Given the description of an element on the screen output the (x, y) to click on. 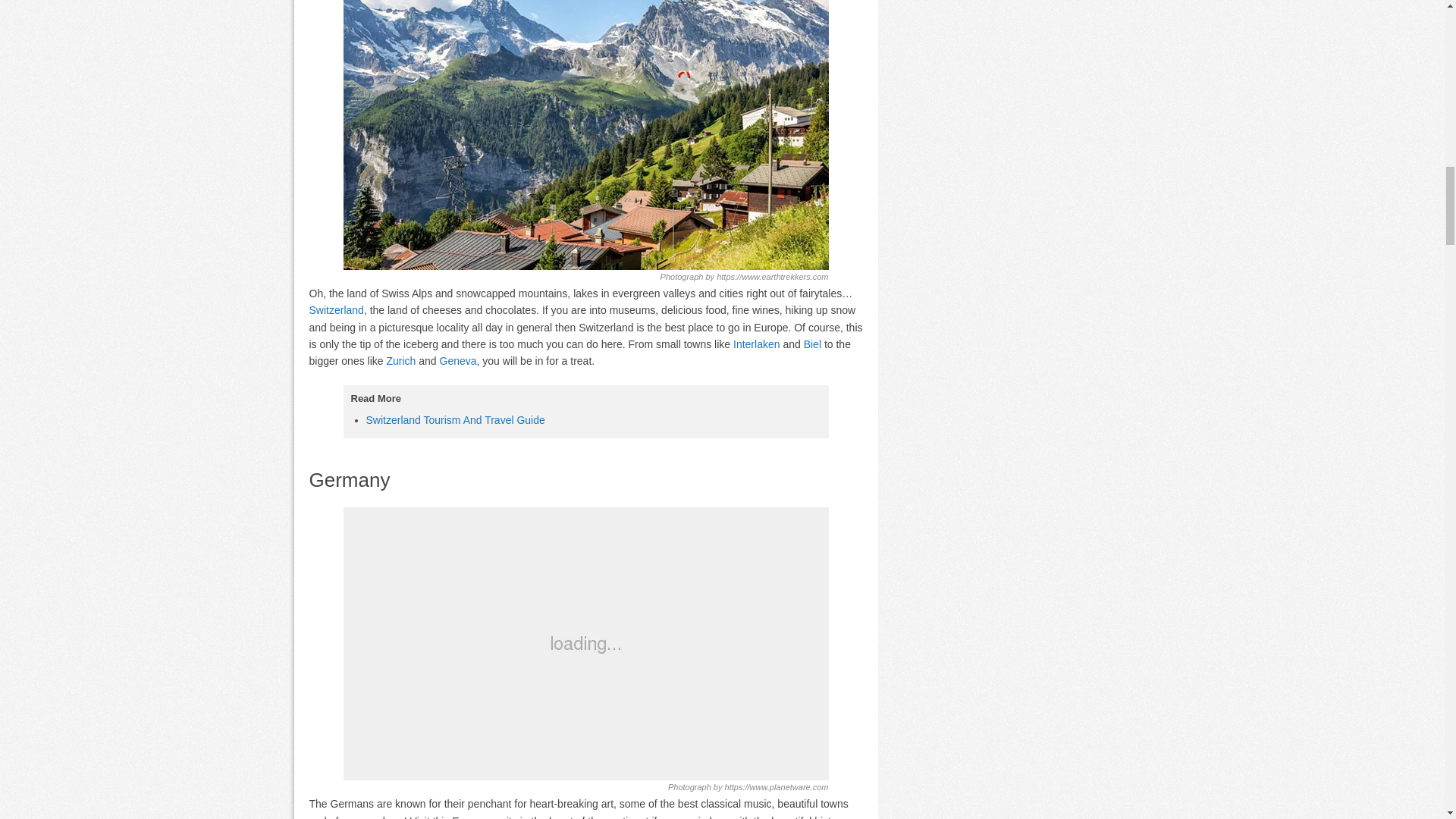
Switzerland (336, 309)
Switzerland:  Best Countries To Visit In Europe (585, 135)
Interlaken (755, 344)
Germany:  Best Countries To Visit In Europe (585, 643)
